Given the description of an element on the screen output the (x, y) to click on. 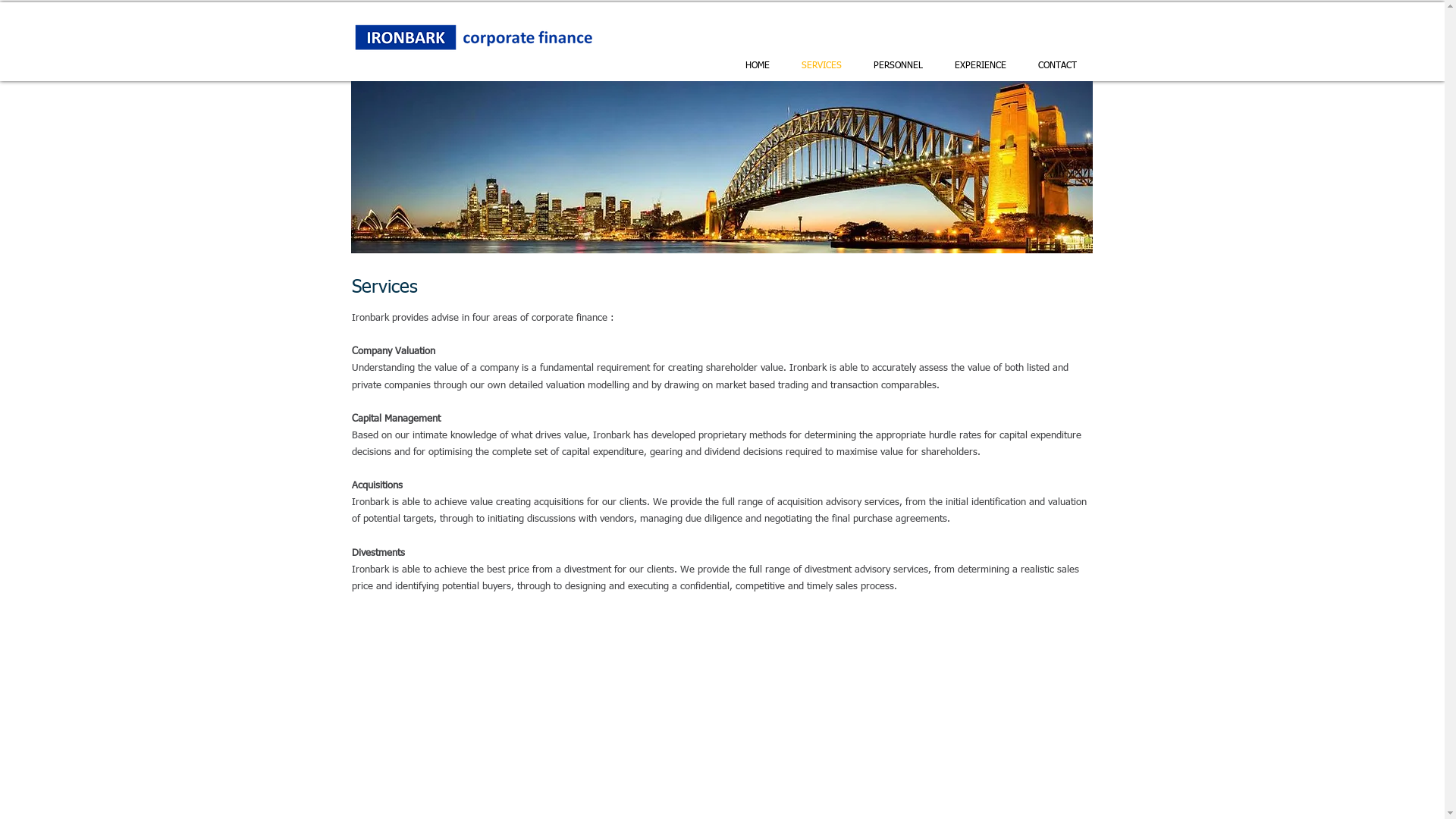
PERSONNEL Element type: text (897, 66)
EXPERIENCE Element type: text (980, 66)
CONTACT Element type: text (1057, 66)
HOME Element type: text (757, 66)
SERVICES Element type: text (821, 66)
